Given the description of an element on the screen output the (x, y) to click on. 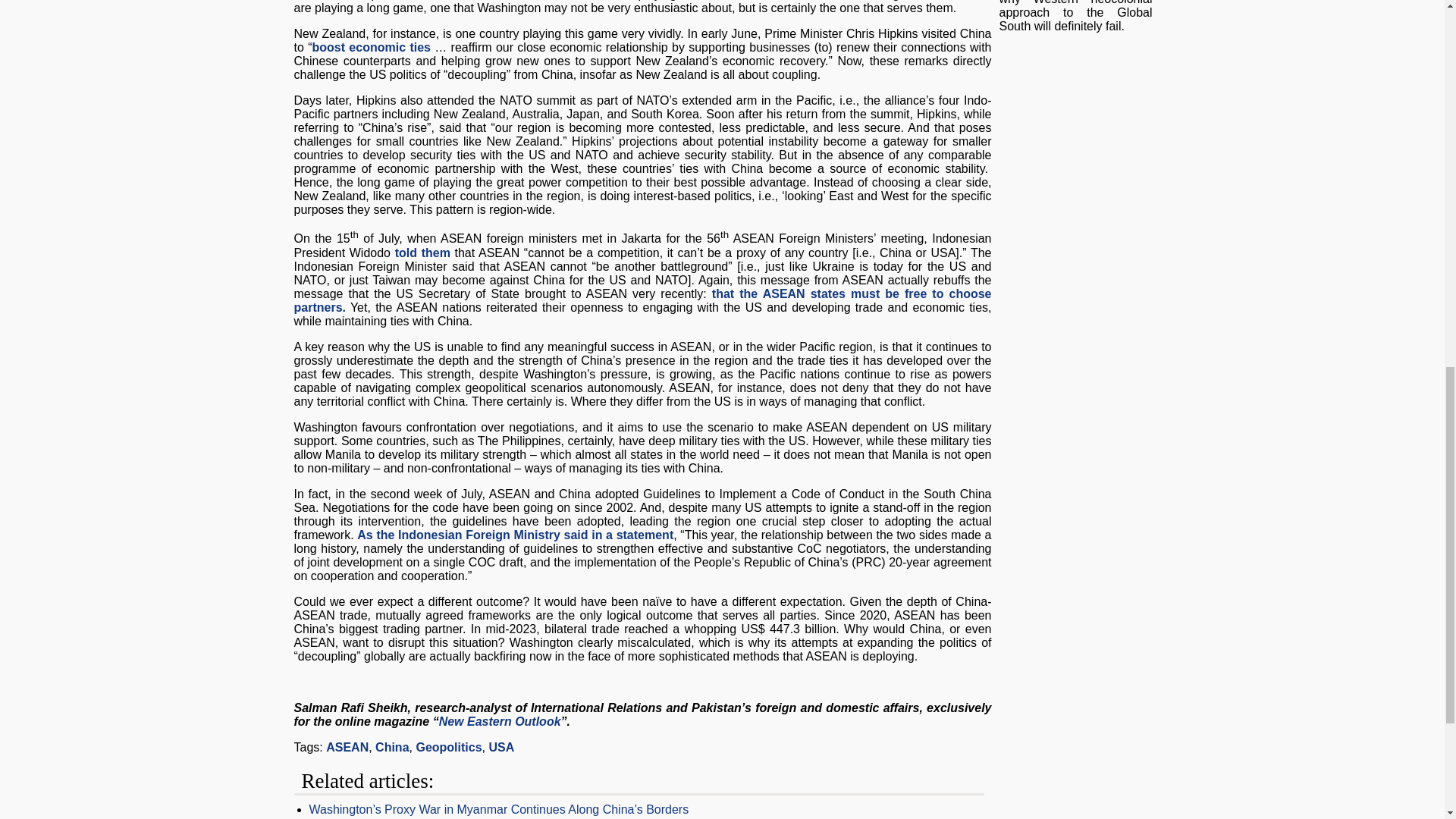
that the ASEAN states must be free to choose partners. (642, 300)
China (392, 747)
ASEAN (347, 747)
New Eastern Outlook (499, 721)
As the Indonesian Foreign Ministry said in a statement (514, 534)
boost economic ties (371, 47)
told them (421, 252)
USA (500, 747)
Geopolitics (447, 747)
